Given the description of an element on the screen output the (x, y) to click on. 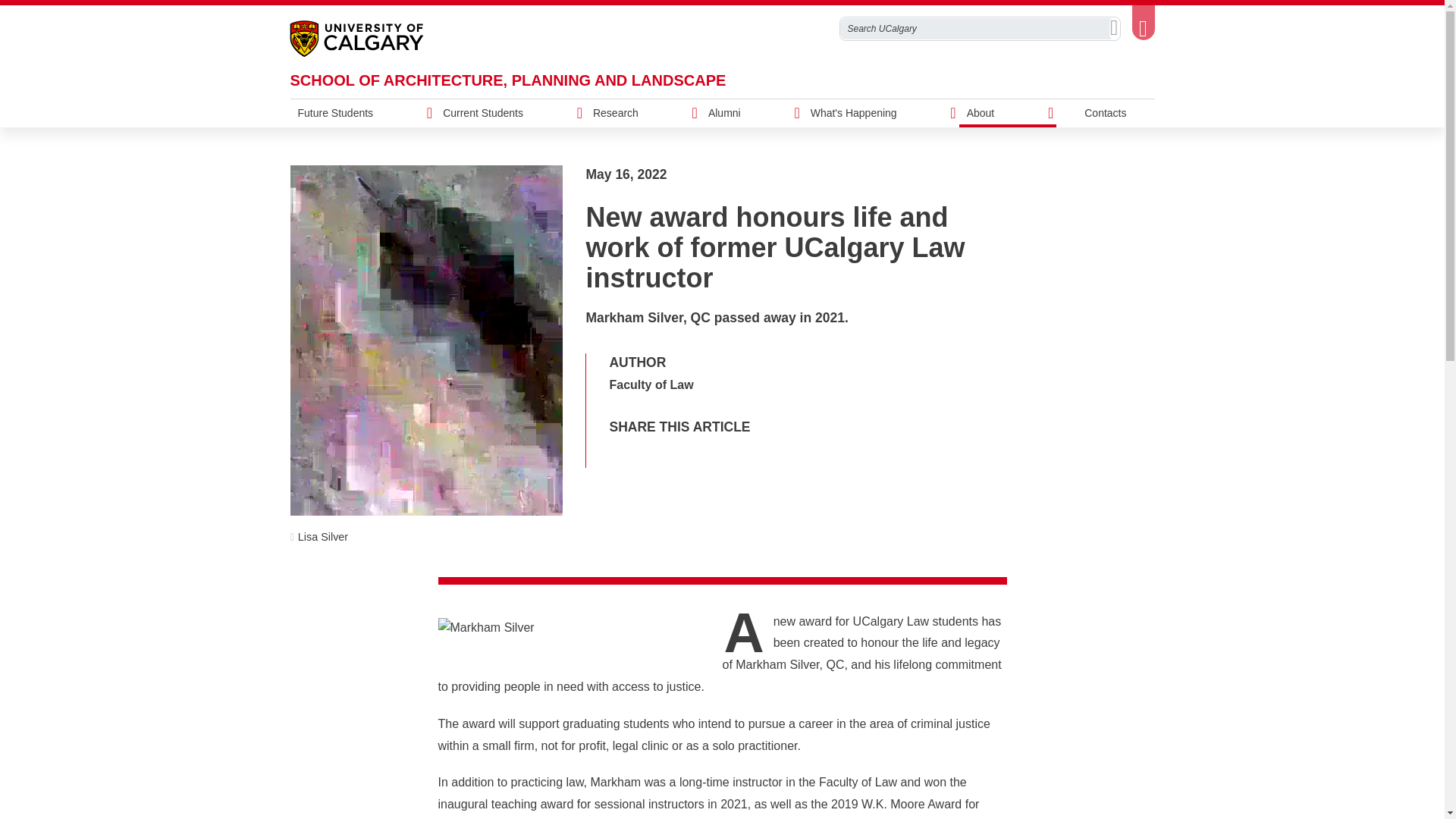
SCHOOL OF ARCHITECTURE, PLANNING AND LANDSCAPE (507, 80)
